Given the description of an element on the screen output the (x, y) to click on. 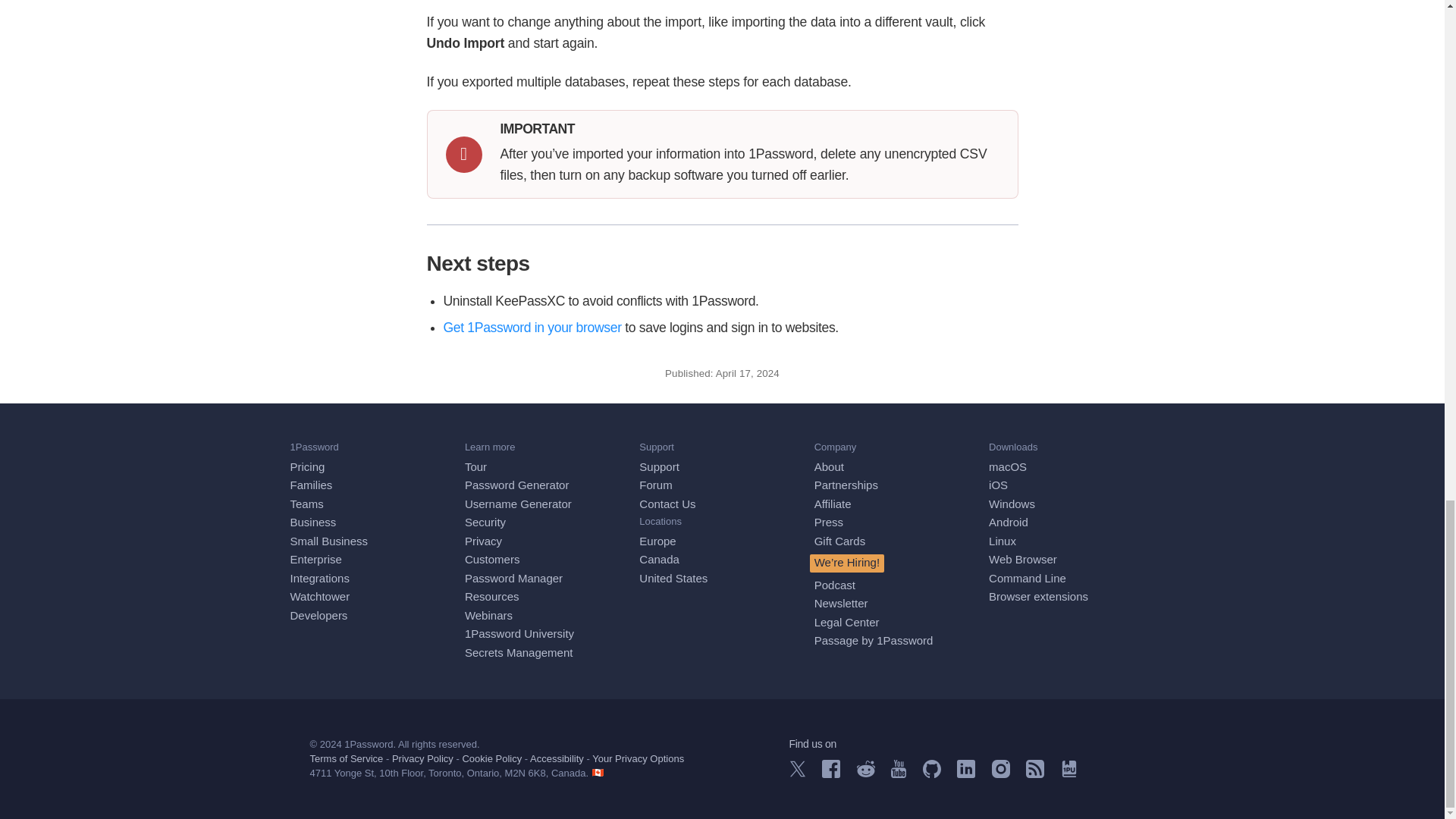
1Password on X (797, 772)
1Password on LinkedIn (965, 773)
Enterprise (314, 558)
Tour (475, 466)
Watchtower (319, 595)
1Password on Reddit (866, 772)
1Password RSS (1034, 773)
Password Manager (513, 577)
Pricing (306, 466)
Privacy (483, 540)
Small Business (328, 540)
1Password on GitHub (930, 773)
Security (484, 521)
1Password on YouTube (898, 773)
1Password on Instagram (1000, 773)
